Given the description of an element on the screen output the (x, y) to click on. 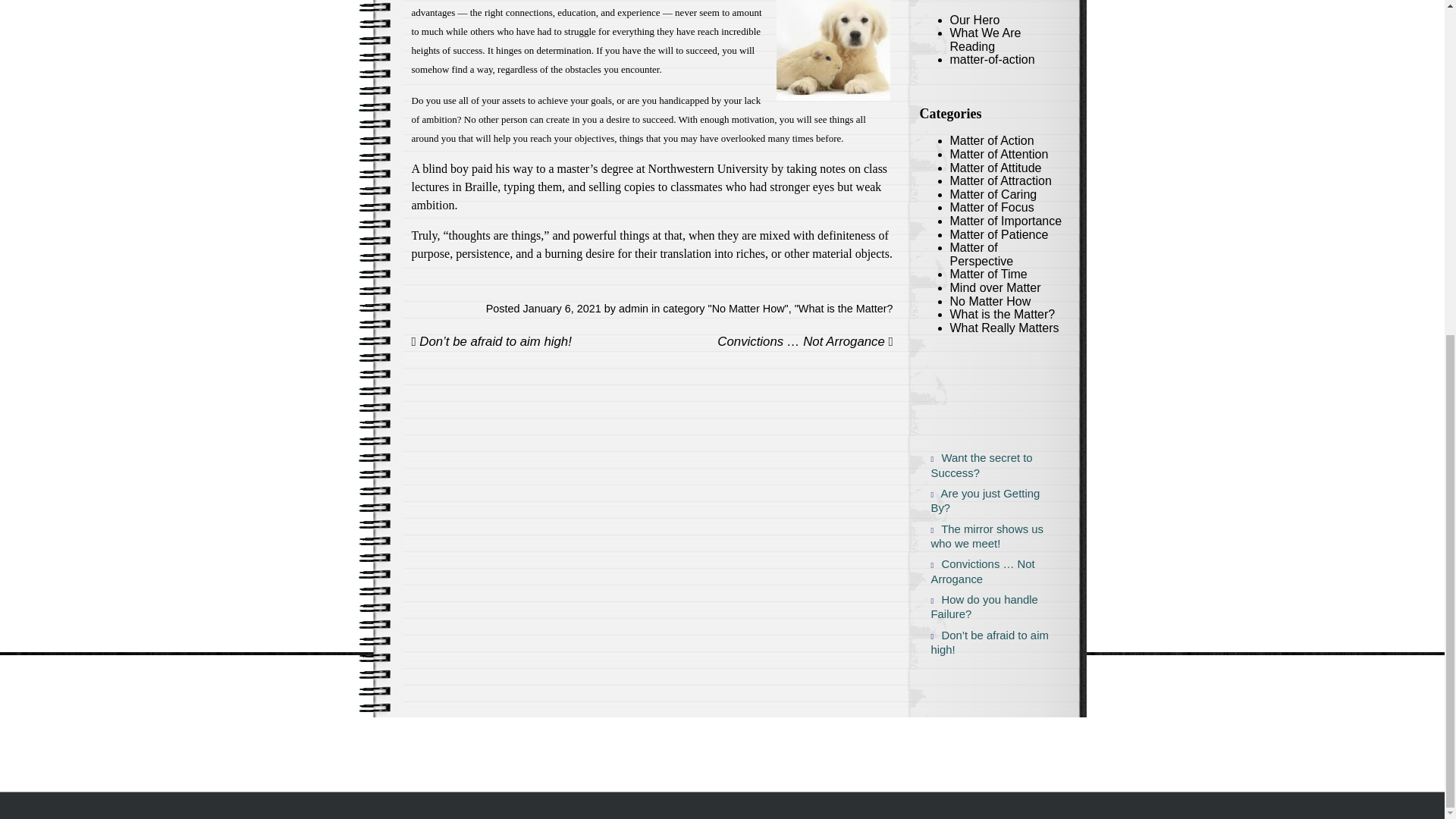
The mirror shows us who we meet! (985, 537)
What is the Matter? (1001, 314)
Matter of Perspective (981, 253)
Matter of Attitude (995, 167)
Matter of Action (991, 140)
No Matter How (989, 300)
matter-of-action (991, 59)
Matter of Attraction (1000, 180)
No Matter How (747, 308)
Our Hero (973, 19)
What is the Matter? (845, 308)
How do you handle Failure? (985, 607)
Matter of Attention (998, 154)
Matter of Caring (992, 194)
Matter of Focus (991, 206)
